Given the description of an element on the screen output the (x, y) to click on. 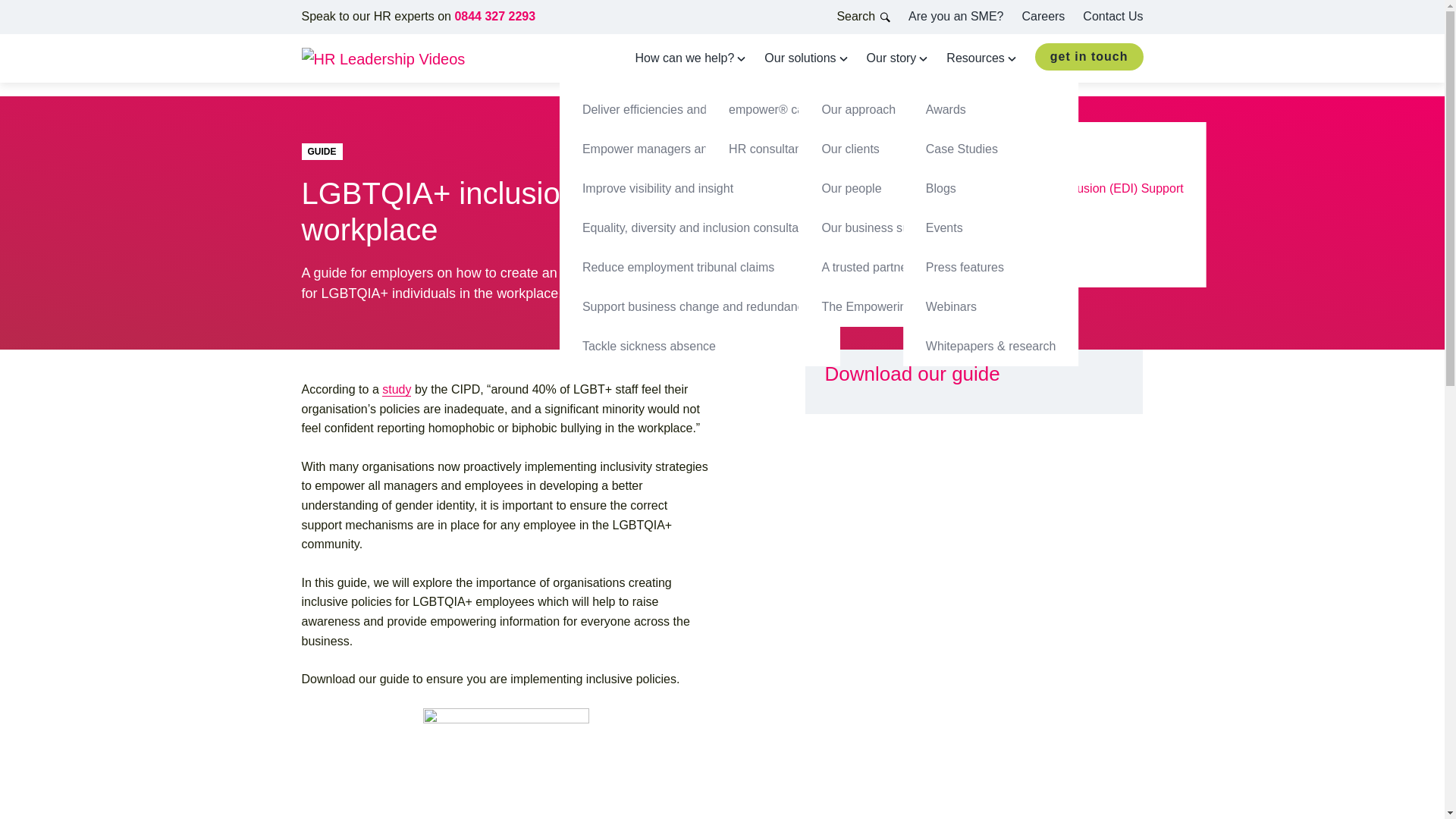
HR experts (1000, 148)
Empower managers and boost capability (699, 148)
Contact Us (1112, 15)
Press features (990, 267)
Are you an SME? (955, 15)
Careers (1043, 15)
Our people (905, 188)
Case Studies (990, 148)
Improve visibility and insight (699, 188)
Our clients (905, 148)
